Given the description of an element on the screen output the (x, y) to click on. 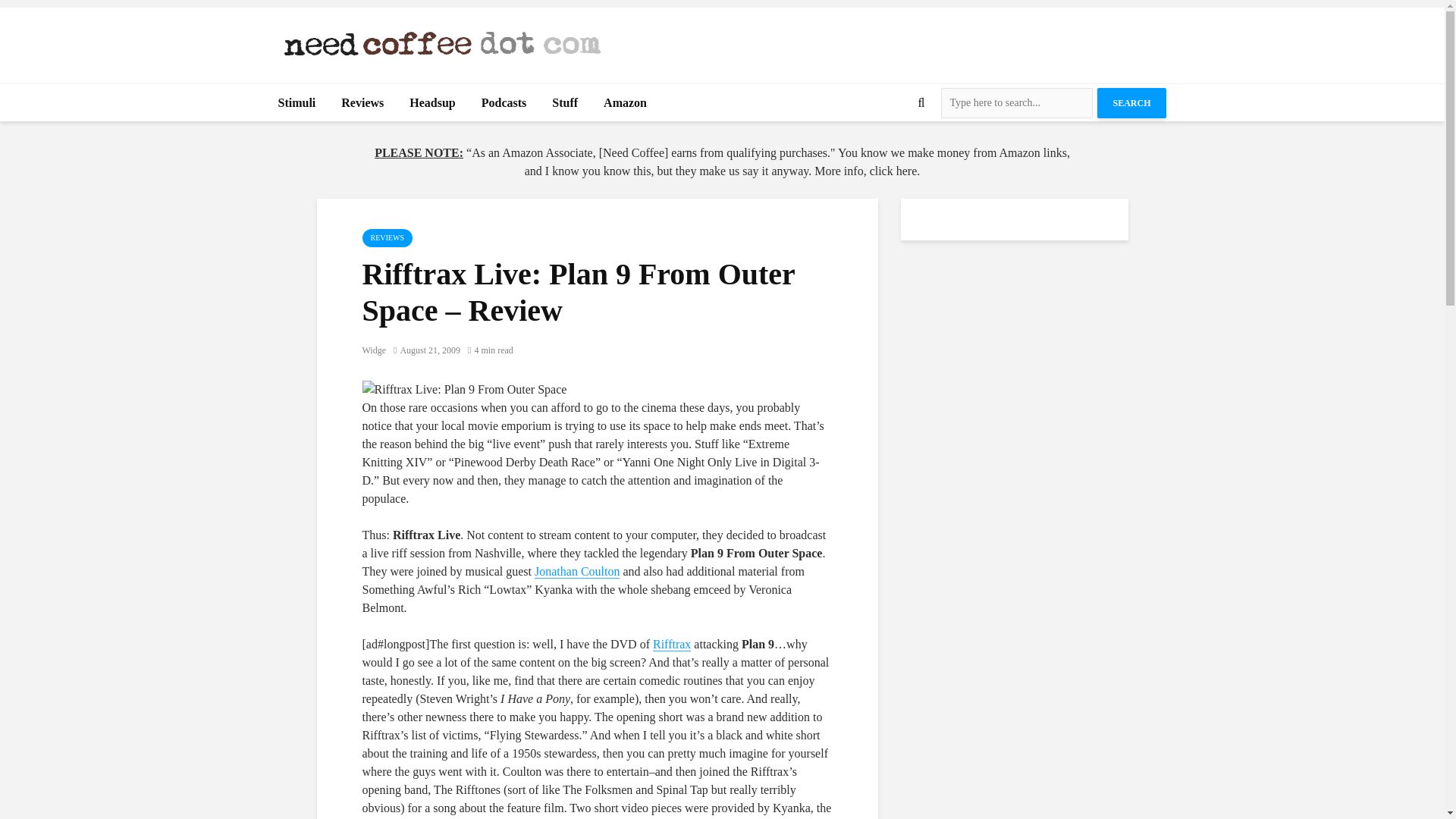
Rifftrax Live: Plan 9 From Outer Space (464, 389)
REVIEWS (387, 238)
Reviews (362, 103)
Rifftrax (671, 644)
Jonathan Coulton (577, 571)
Amazon (625, 103)
Podcasts (504, 103)
Headsup (431, 103)
click here. (894, 170)
SEARCH (1131, 102)
